Given the description of an element on the screen output the (x, y) to click on. 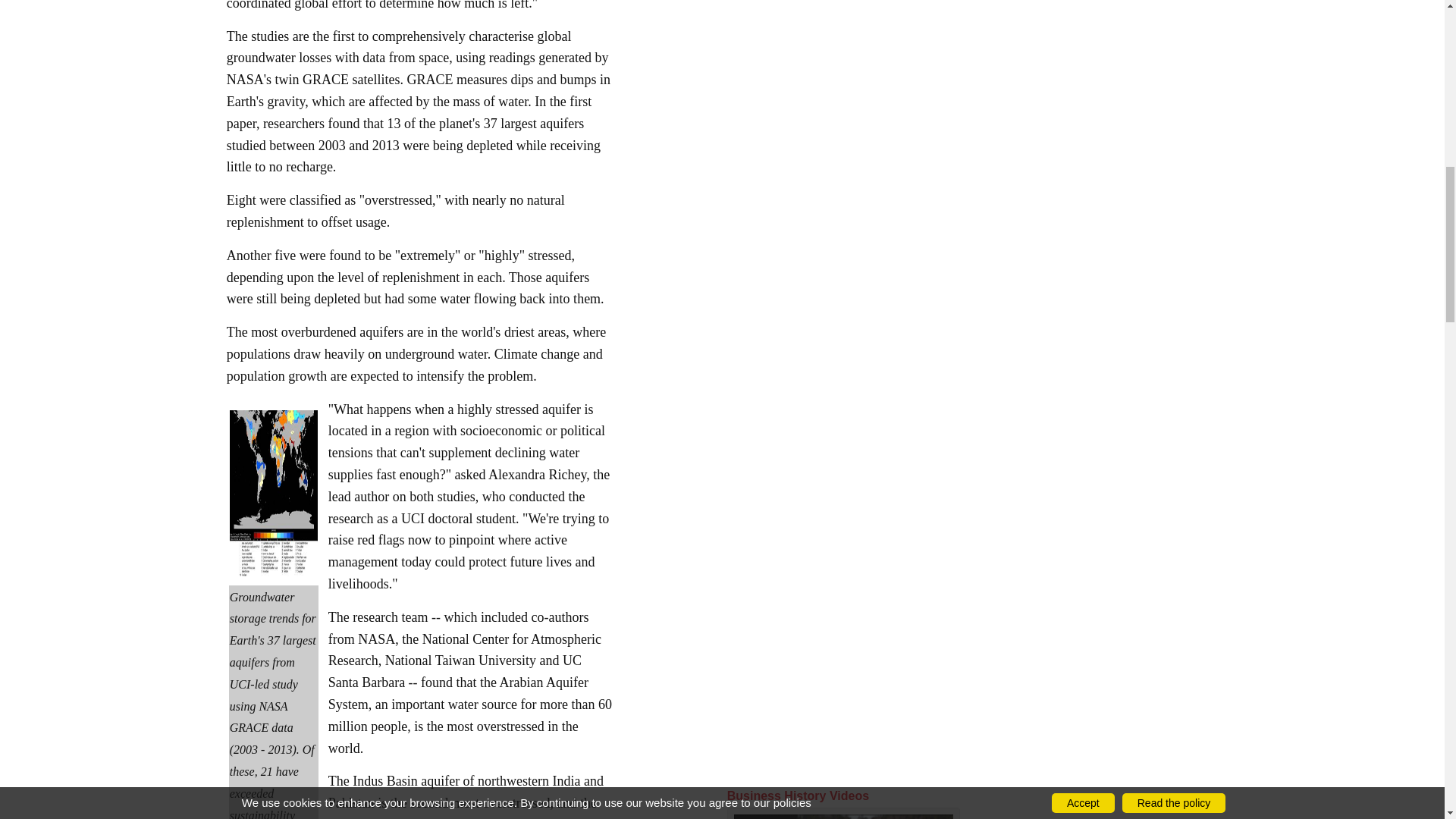
Click to zoom (273, 492)
